Given the description of an element on the screen output the (x, y) to click on. 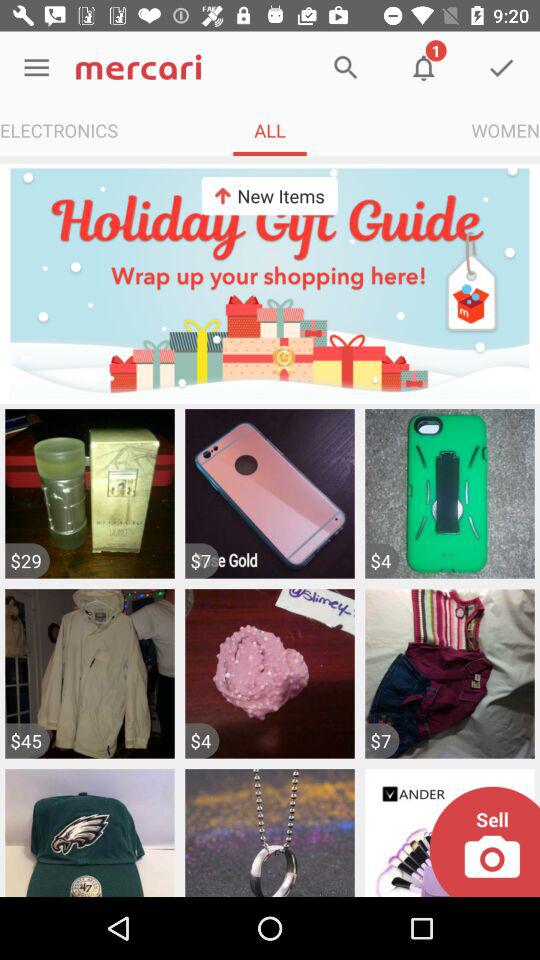
select $45 (27, 740)
